Given the description of an element on the screen output the (x, y) to click on. 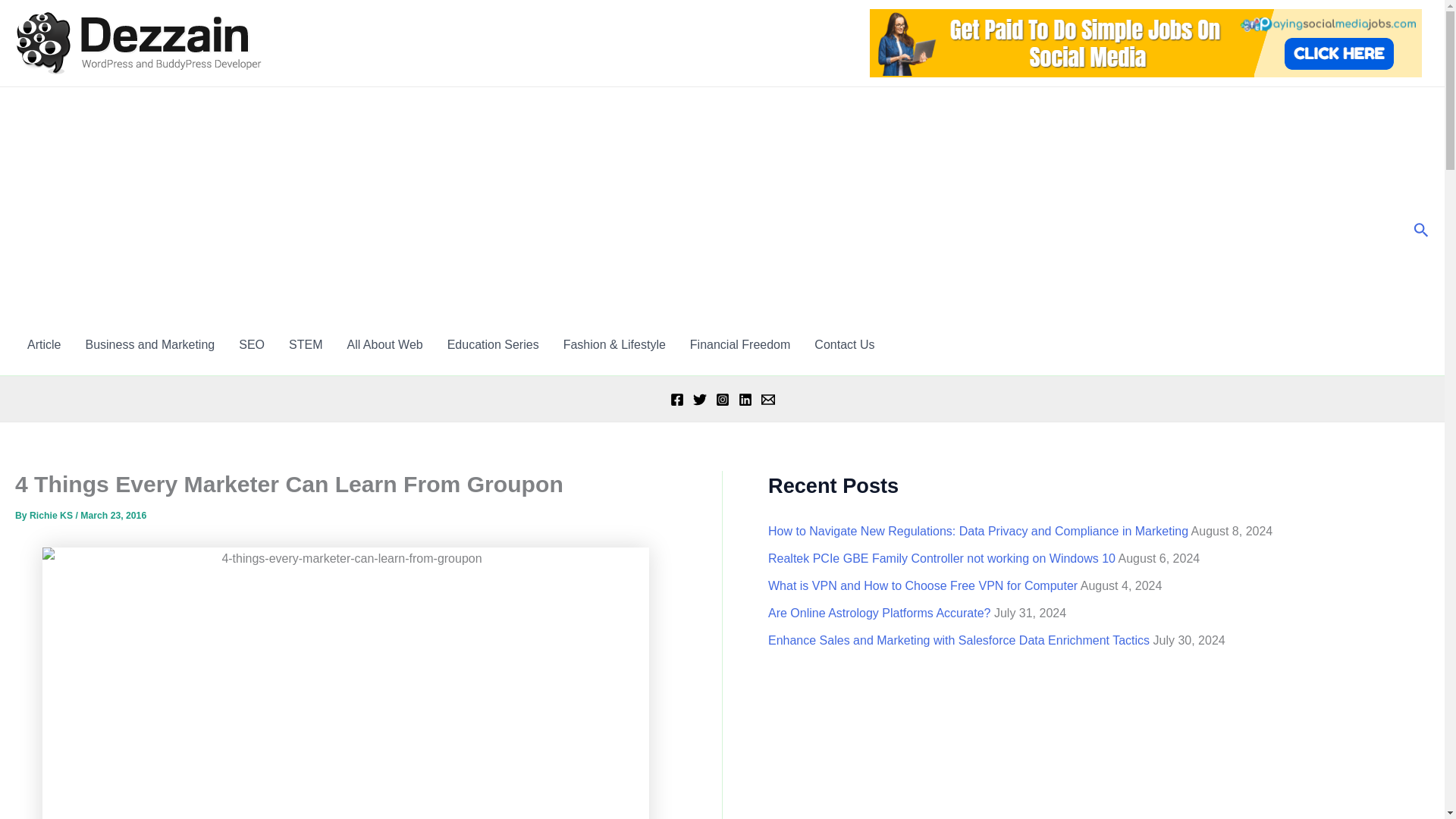
View all posts by Richie KS (52, 515)
STEM (305, 344)
Contact Us (844, 344)
All About Web (383, 344)
Business and Marketing (149, 344)
Richie KS (52, 515)
Article (43, 344)
any inquiries? (844, 344)
Education Series (493, 344)
